Given the description of an element on the screen output the (x, y) to click on. 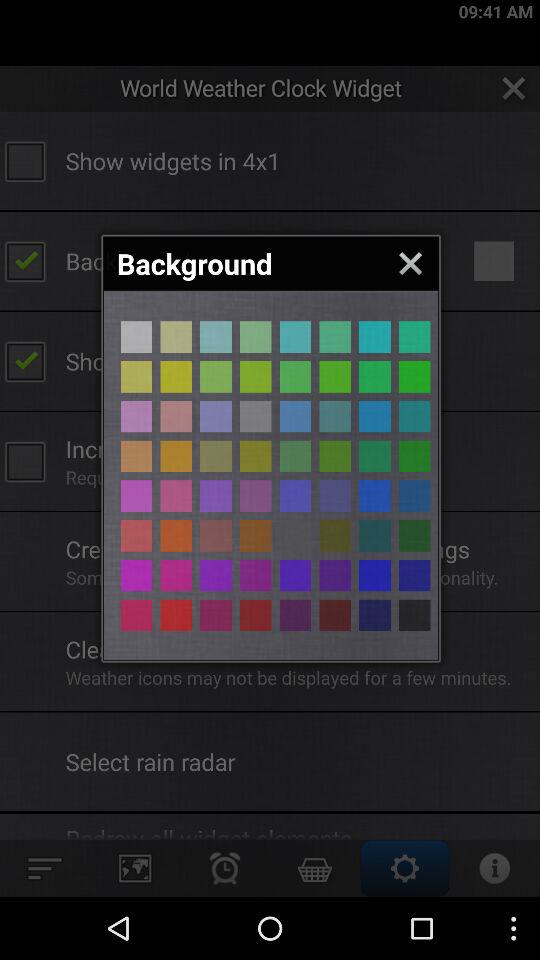
change background color (215, 615)
